Given the description of an element on the screen output the (x, y) to click on. 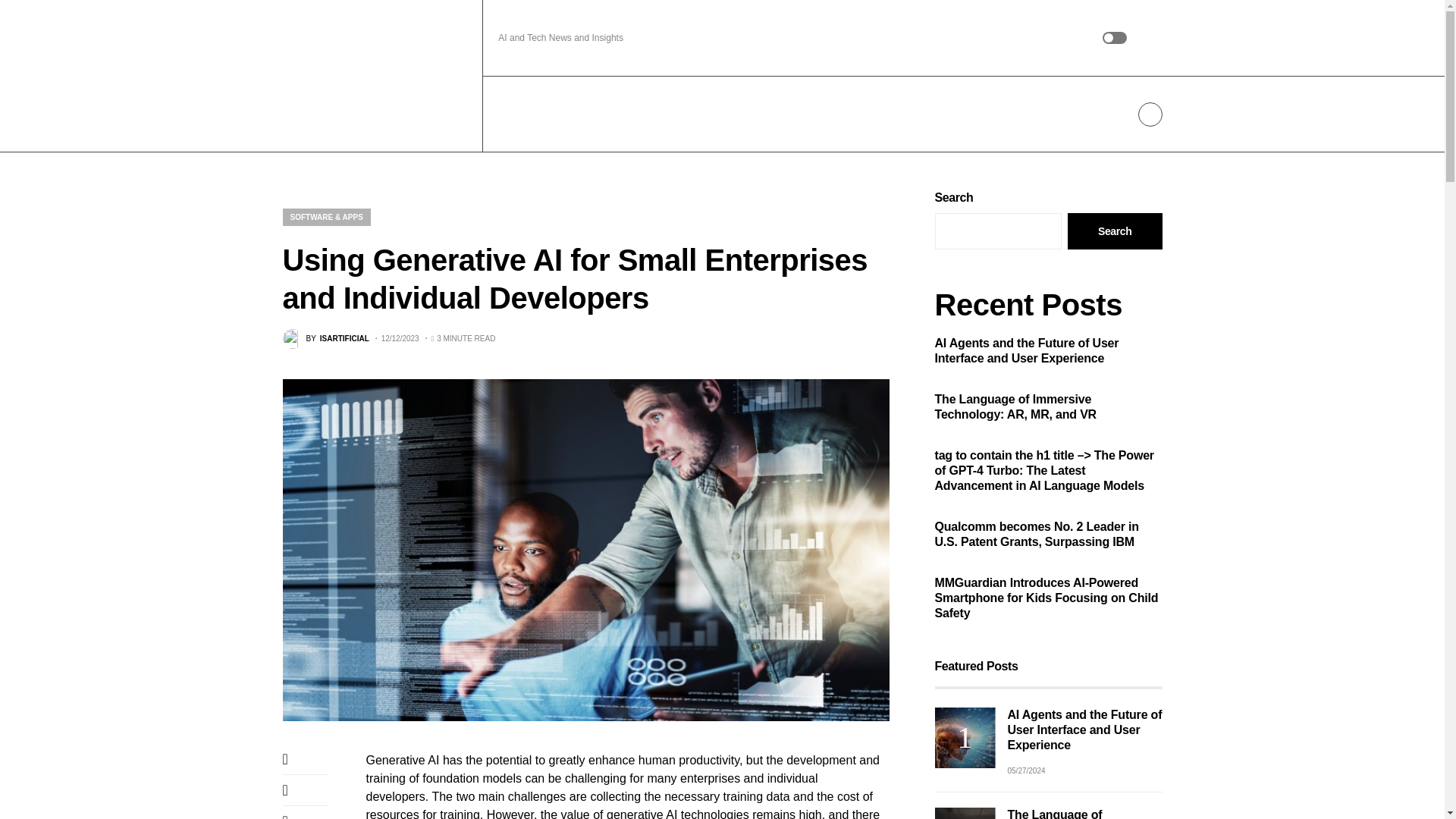
View all posts by IsArtificial (325, 338)
